Given the description of an element on the screen output the (x, y) to click on. 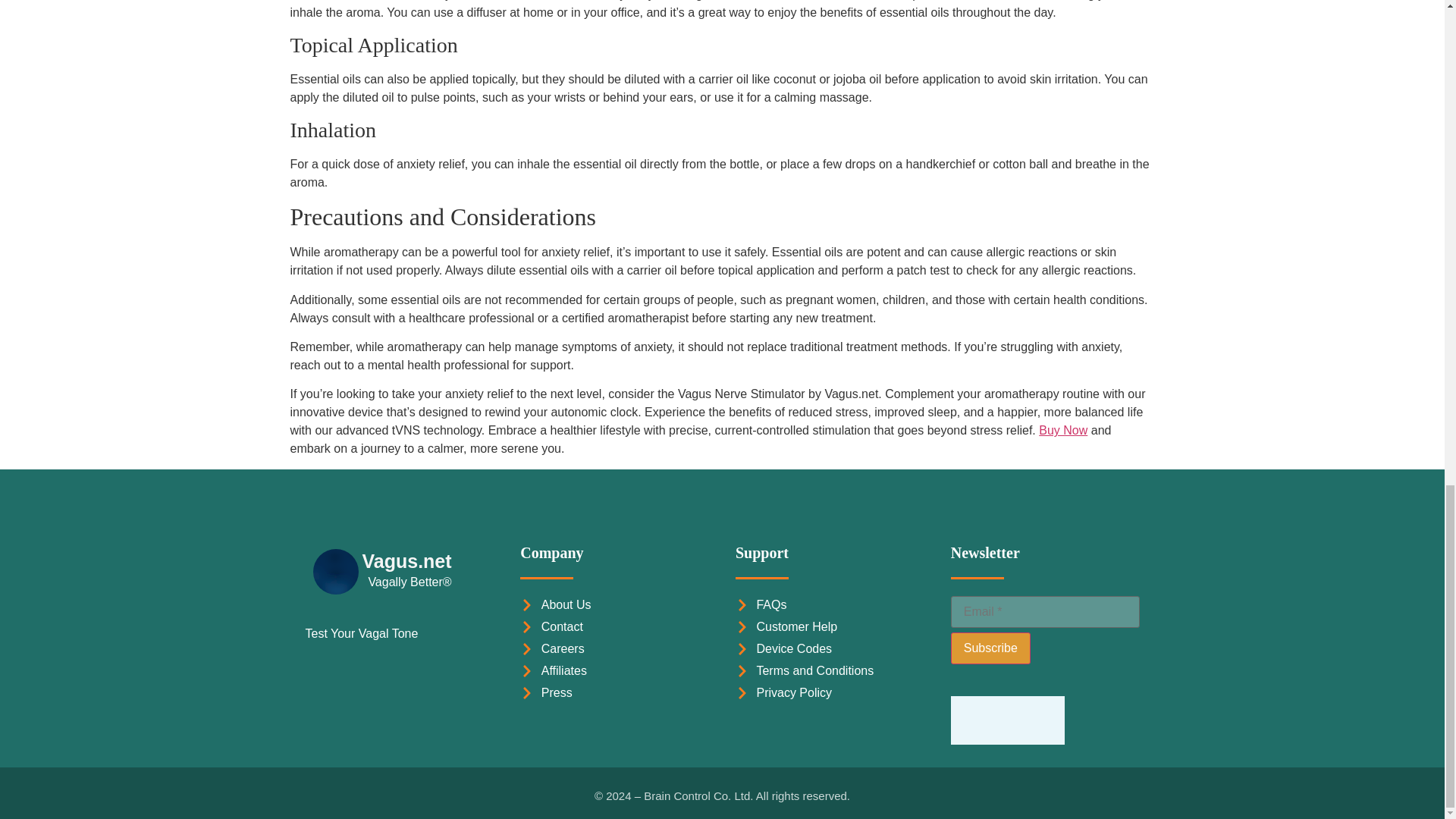
Subscribe (990, 648)
